Given the description of an element on the screen output the (x, y) to click on. 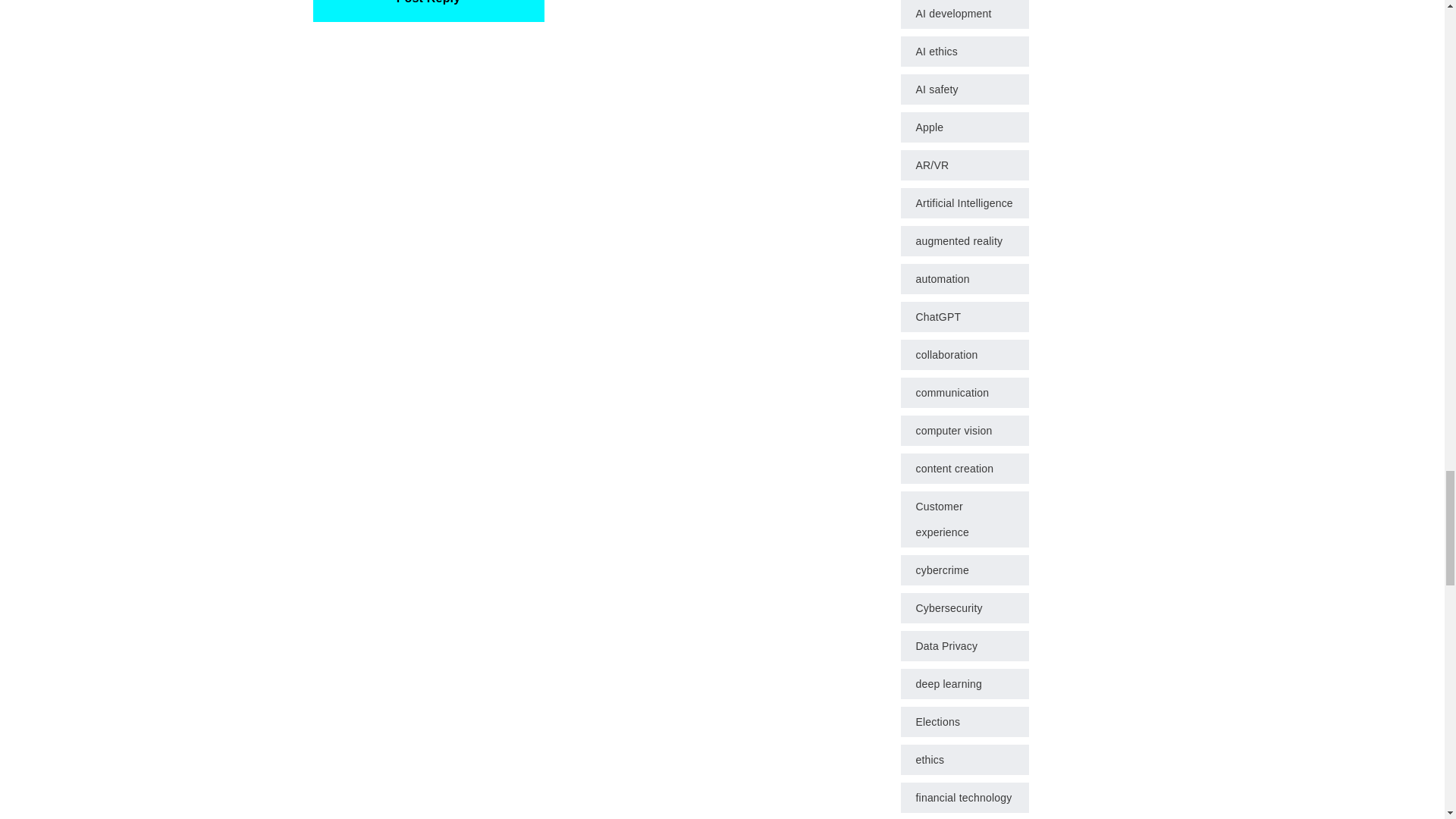
Post Reply (428, 4)
